Given the description of an element on the screen output the (x, y) to click on. 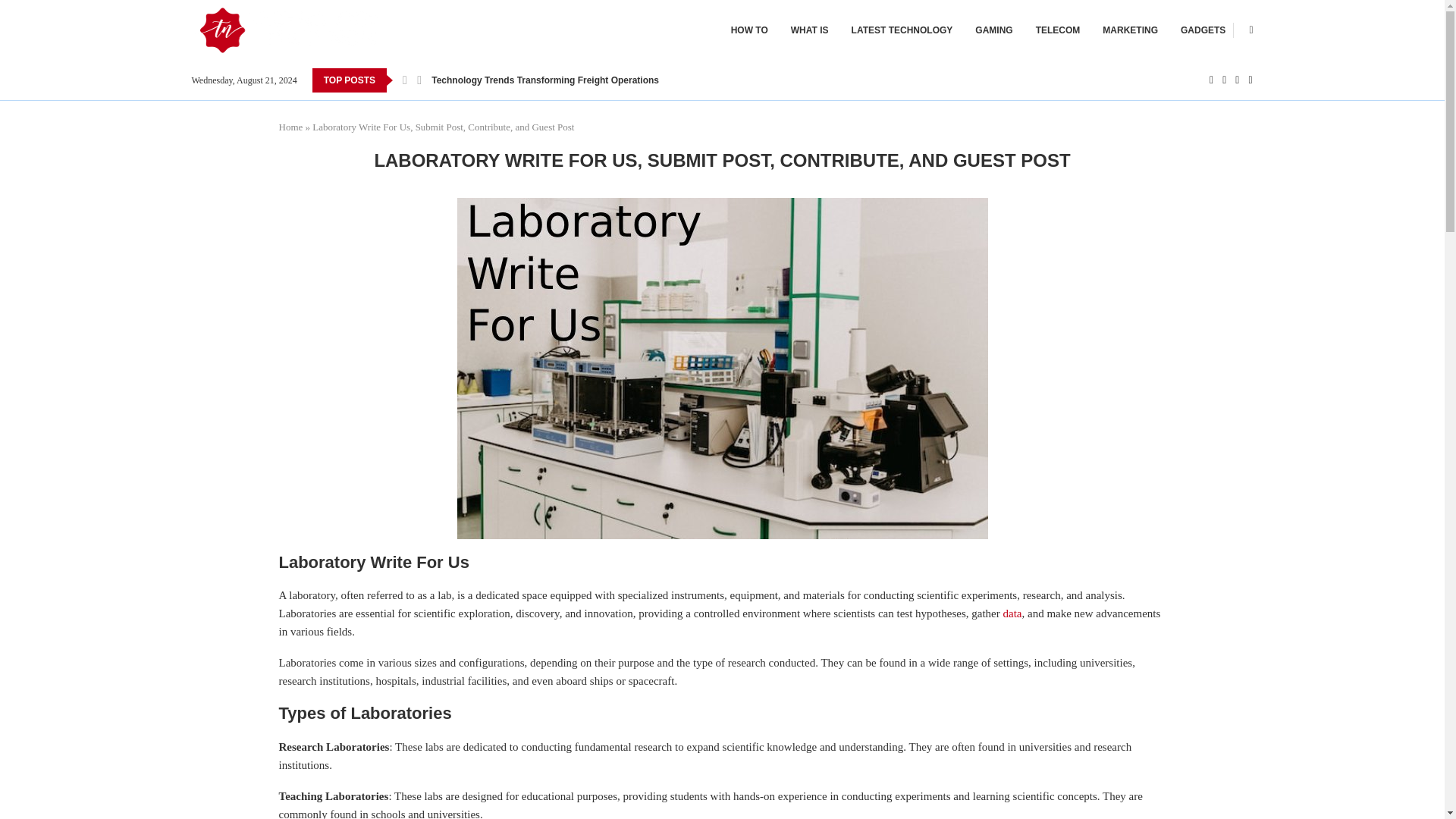
Technology Trends Transforming Freight Operations (544, 79)
TELECOM (1057, 30)
GADGETS (1202, 30)
MARKETING (1129, 30)
LATEST TECHNOLOGY (902, 30)
